Given the description of an element on the screen output the (x, y) to click on. 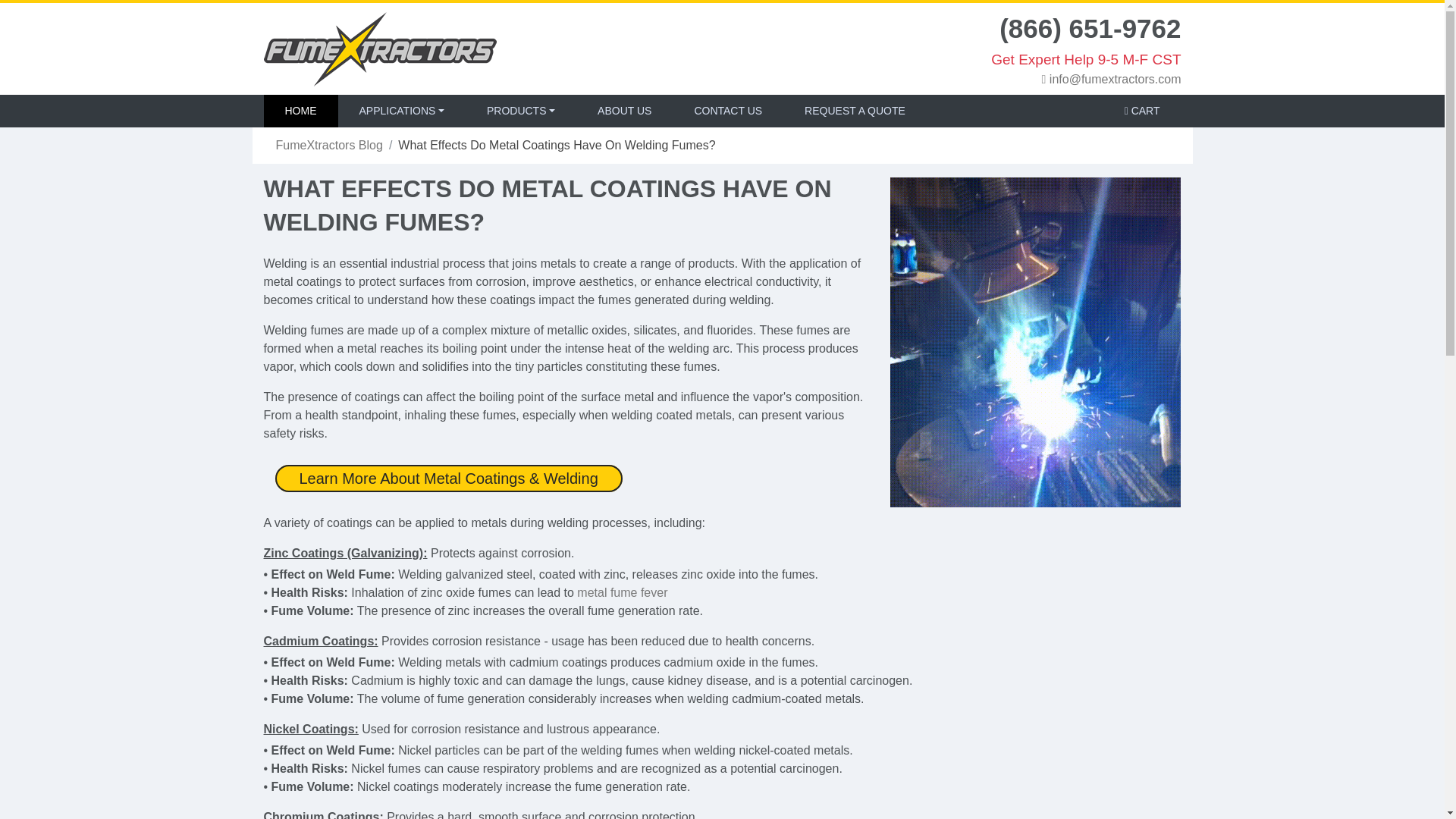
FumeXtractors Blog (329, 144)
CONTACT US (727, 111)
PRODUCTS (520, 111)
ABOUT US (624, 111)
CART (1141, 111)
metal fume fever (621, 592)
REQUEST A QUOTE (854, 111)
APPLICATIONS (401, 111)
